Given the description of an element on the screen output the (x, y) to click on. 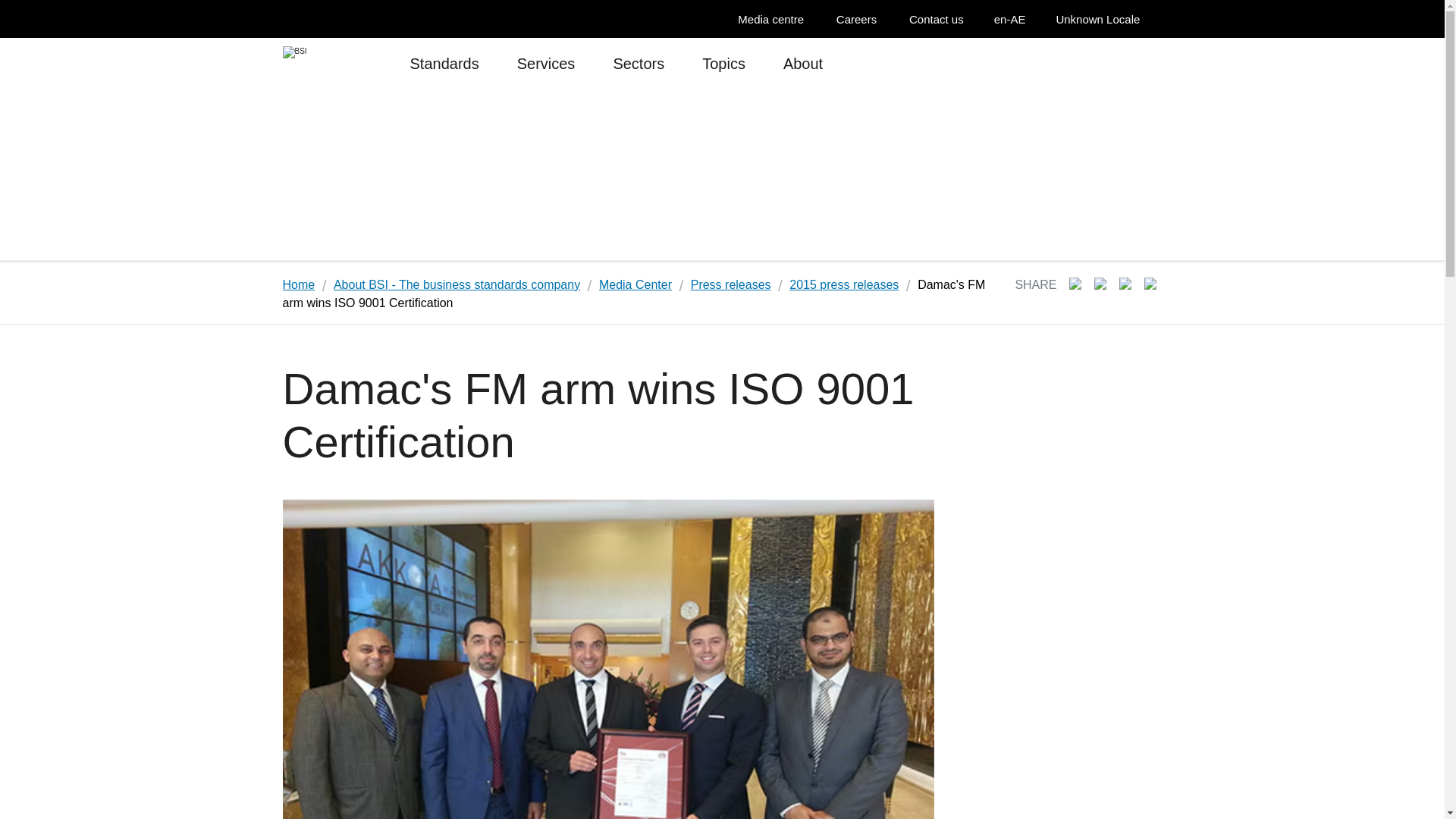
Unknown Locale (1106, 19)
en-AE (1015, 19)
Careers (859, 19)
Careers (859, 19)
logo (314, 65)
Media centre (774, 19)
Contact us (939, 19)
Media centre (774, 19)
Contact us (939, 19)
Standards (444, 70)
